Given the description of an element on the screen output the (x, y) to click on. 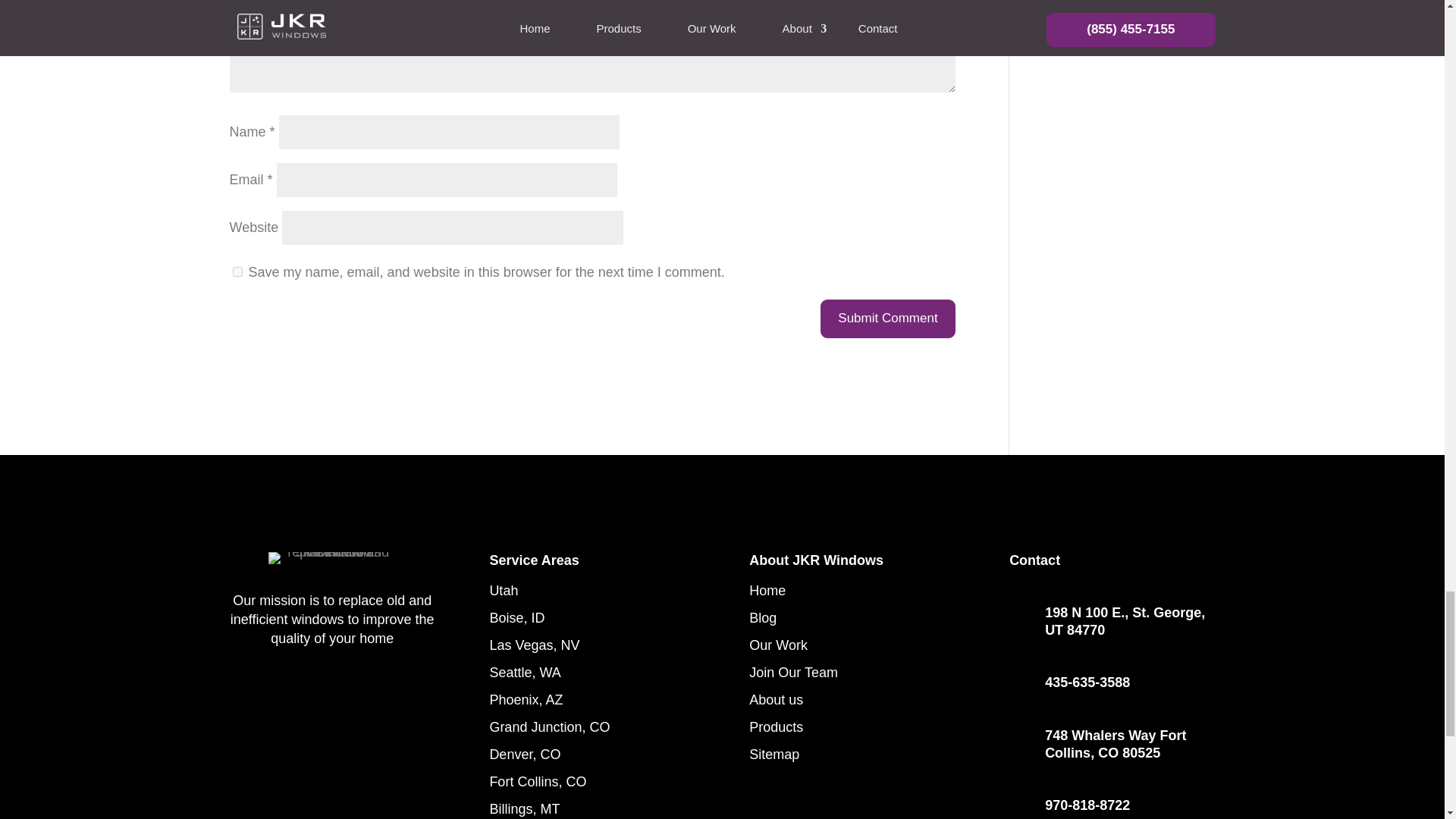
logo smaller (331, 558)
yes (236, 271)
Submit Comment (888, 318)
Submit Comment (888, 318)
